Given the description of an element on the screen output the (x, y) to click on. 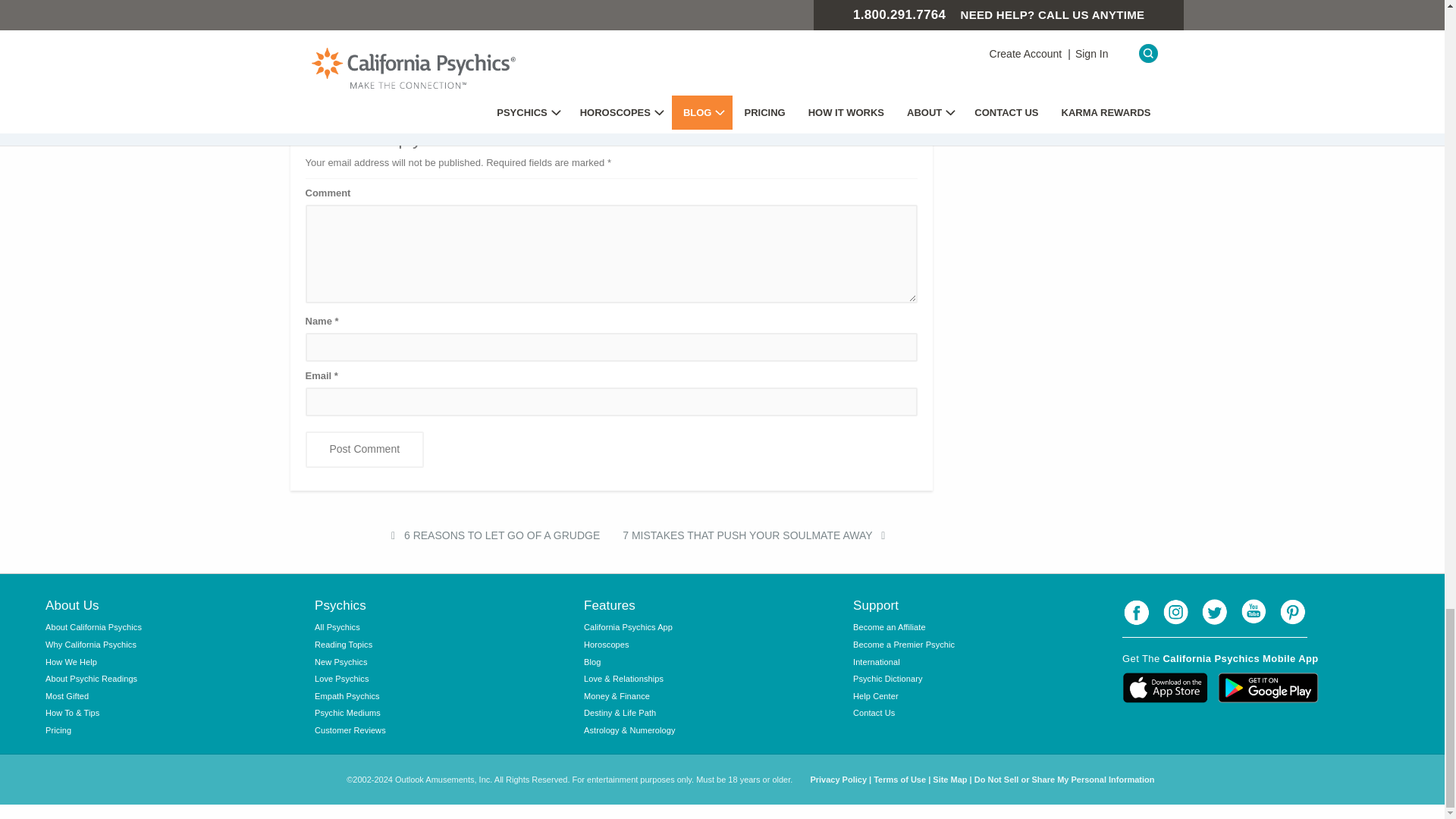
Go to Facebook (1136, 612)
Post Comment (363, 449)
Go to YouTube (1254, 612)
Go to Pinterest (1292, 612)
Go to Instagram (1176, 612)
Go to Twitter (1213, 612)
